Given the description of an element on the screen output the (x, y) to click on. 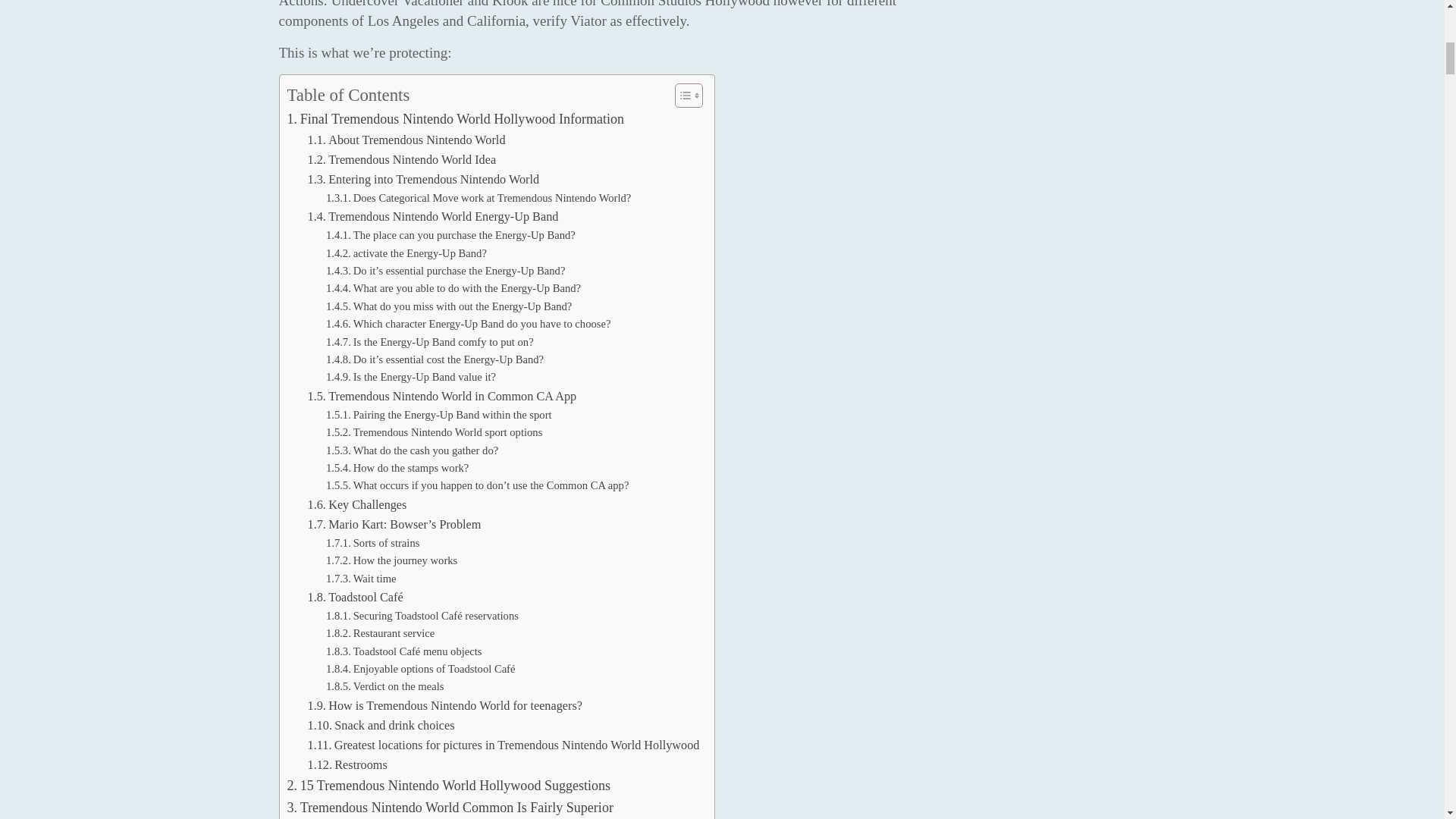
Does Categorical Move work at Tremendous Nintendo World? (478, 198)
Entering into Tremendous Nintendo World (423, 179)
What are you able to do with the Energy-Up Band? (453, 288)
Pairing the Energy-Up Band within the sport (438, 415)
About Tremendous Nintendo World (406, 139)
Tremendous Nintendo World Energy-Up Band (433, 216)
The place can you purchase the Energy-Up Band? (450, 235)
Final Tremendous Nintendo World Hollywood Information (455, 119)
Tremendous Nintendo World Energy-Up Band (433, 216)
Tremendous Nintendo World sport options (433, 432)
The place can you purchase the Energy-Up Band? (450, 235)
How do the stamps work? (397, 467)
What do you miss with out the Energy-Up Band? (449, 306)
activate the Energy-Up Band? (406, 253)
Tremendous Nintendo World in Common CA App (441, 396)
